Given the description of an element on the screen output the (x, y) to click on. 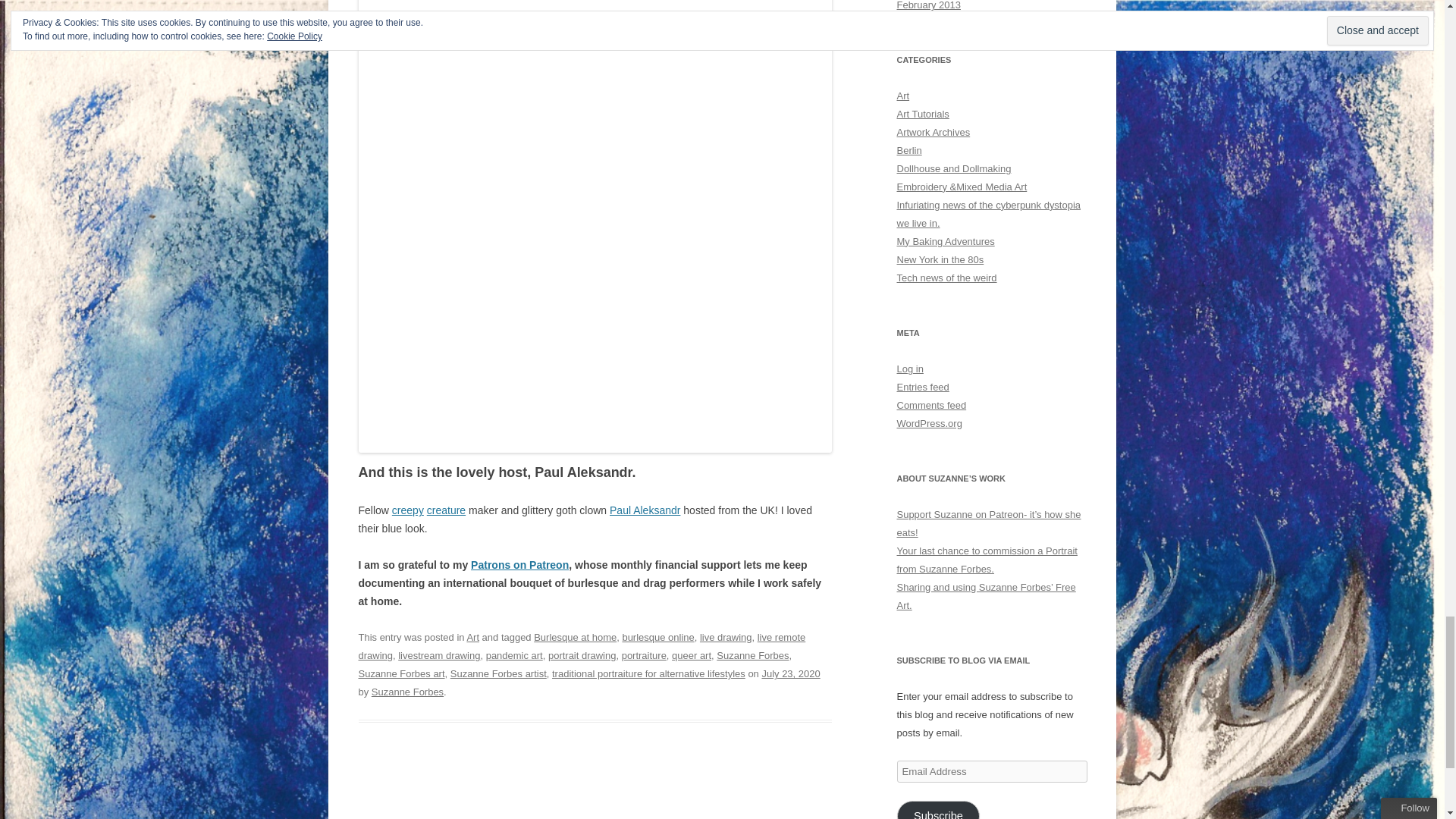
Suzanne Forbes art (401, 673)
Suzanne Forbes artist (498, 673)
live remote drawing (581, 645)
creature (445, 510)
livestream drawing (438, 655)
Art (472, 636)
portrait drawing (581, 655)
portraiture (643, 655)
Patrons on Patreon (519, 564)
11:48 pm (790, 673)
